Given the description of an element on the screen output the (x, y) to click on. 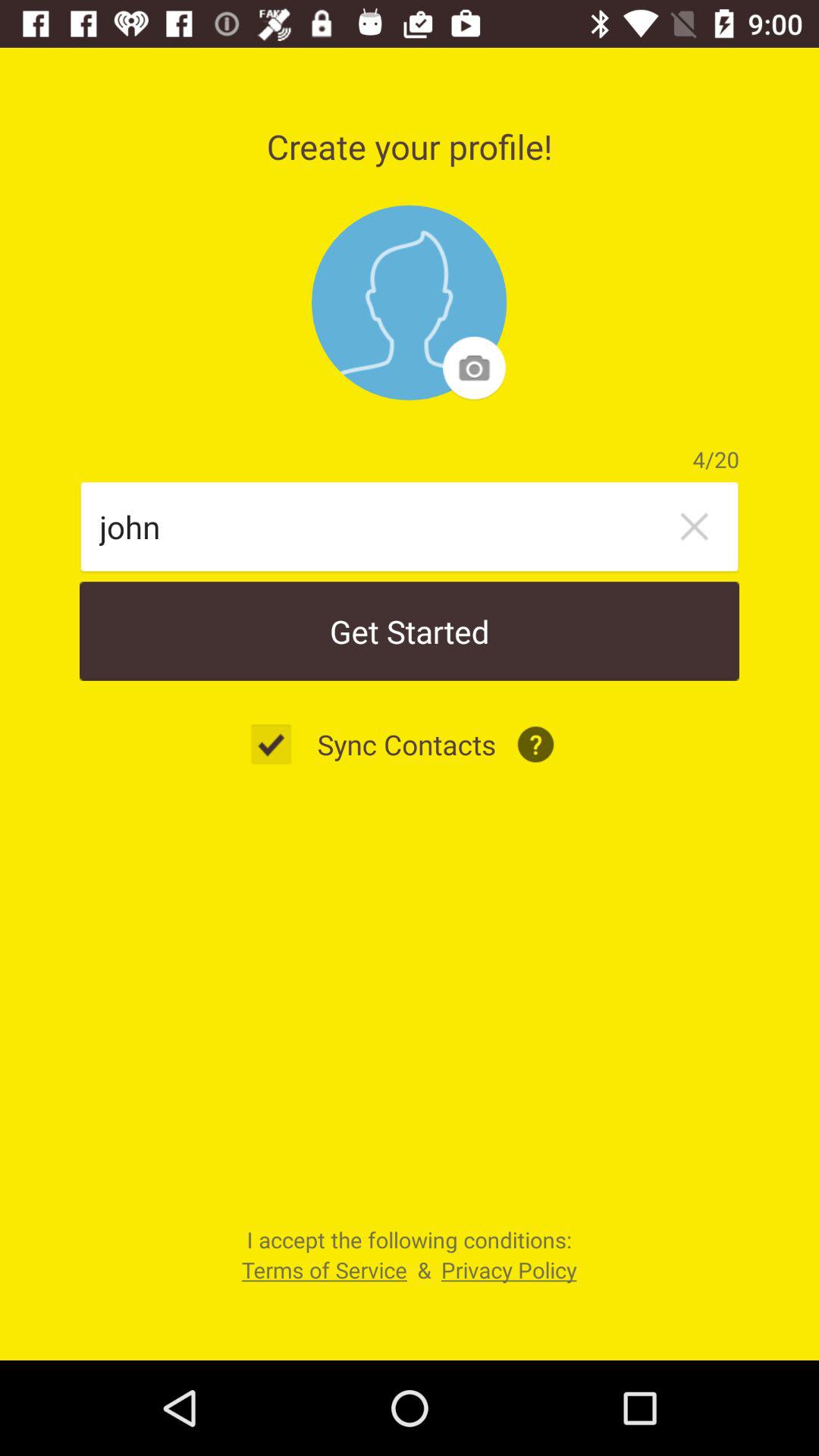
turn on item to the right of john item (694, 526)
